Given the description of an element on the screen output the (x, y) to click on. 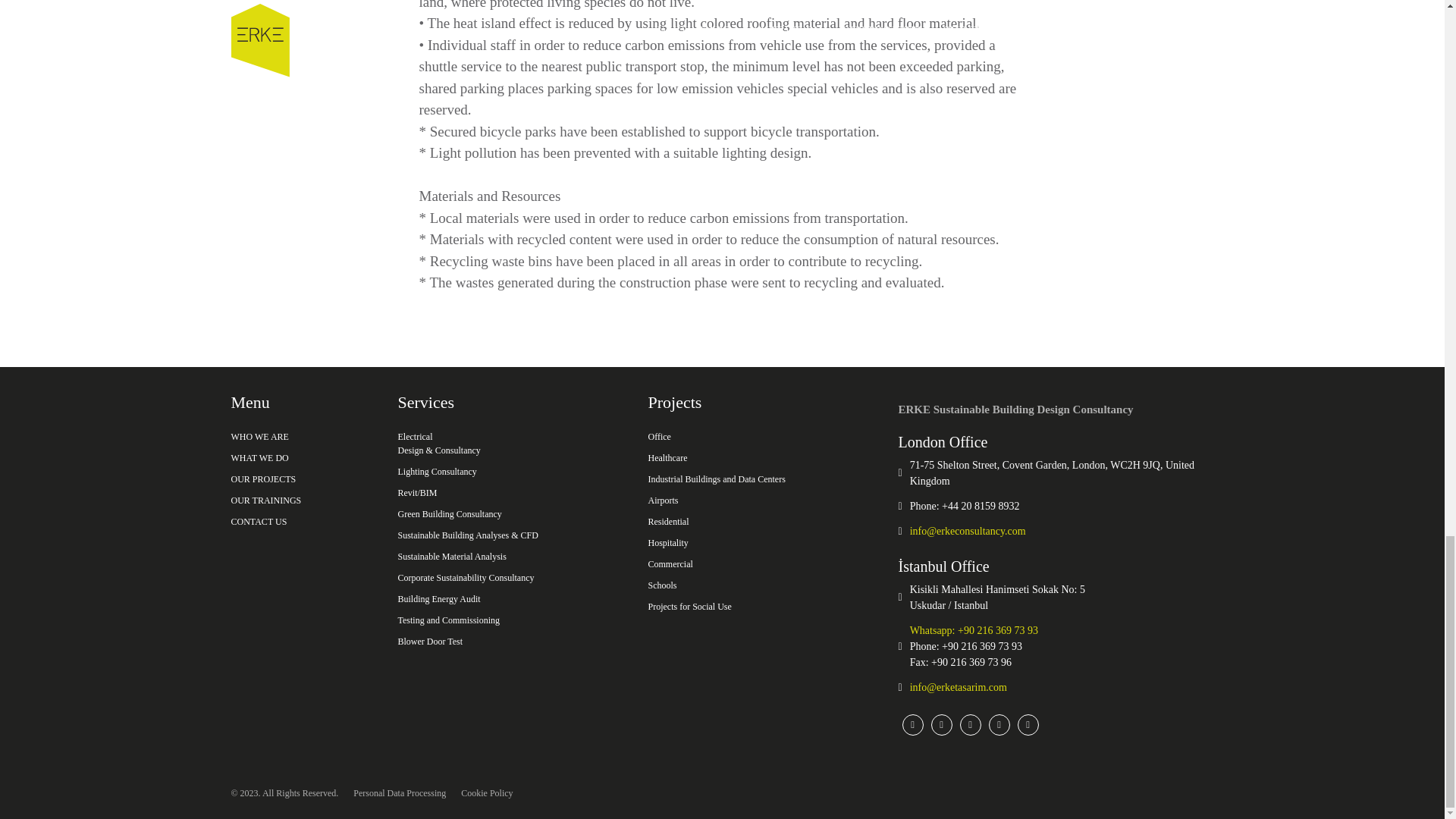
Residential (763, 521)
Sustainable Material Analysis (512, 556)
Corporate Sustainability Consultancy (512, 577)
OUR TRAININGS (304, 500)
Office (763, 436)
Building Energy Audit (512, 598)
Airports (763, 500)
WHO WE ARE (304, 436)
Testing and Commissioning (512, 619)
WHAT WE DO (304, 457)
Hospitality (763, 542)
Lighting Consultancy (512, 471)
Blower Door Test (512, 640)
OUR PROJECTS (304, 478)
Commercial (763, 563)
